Given the description of an element on the screen output the (x, y) to click on. 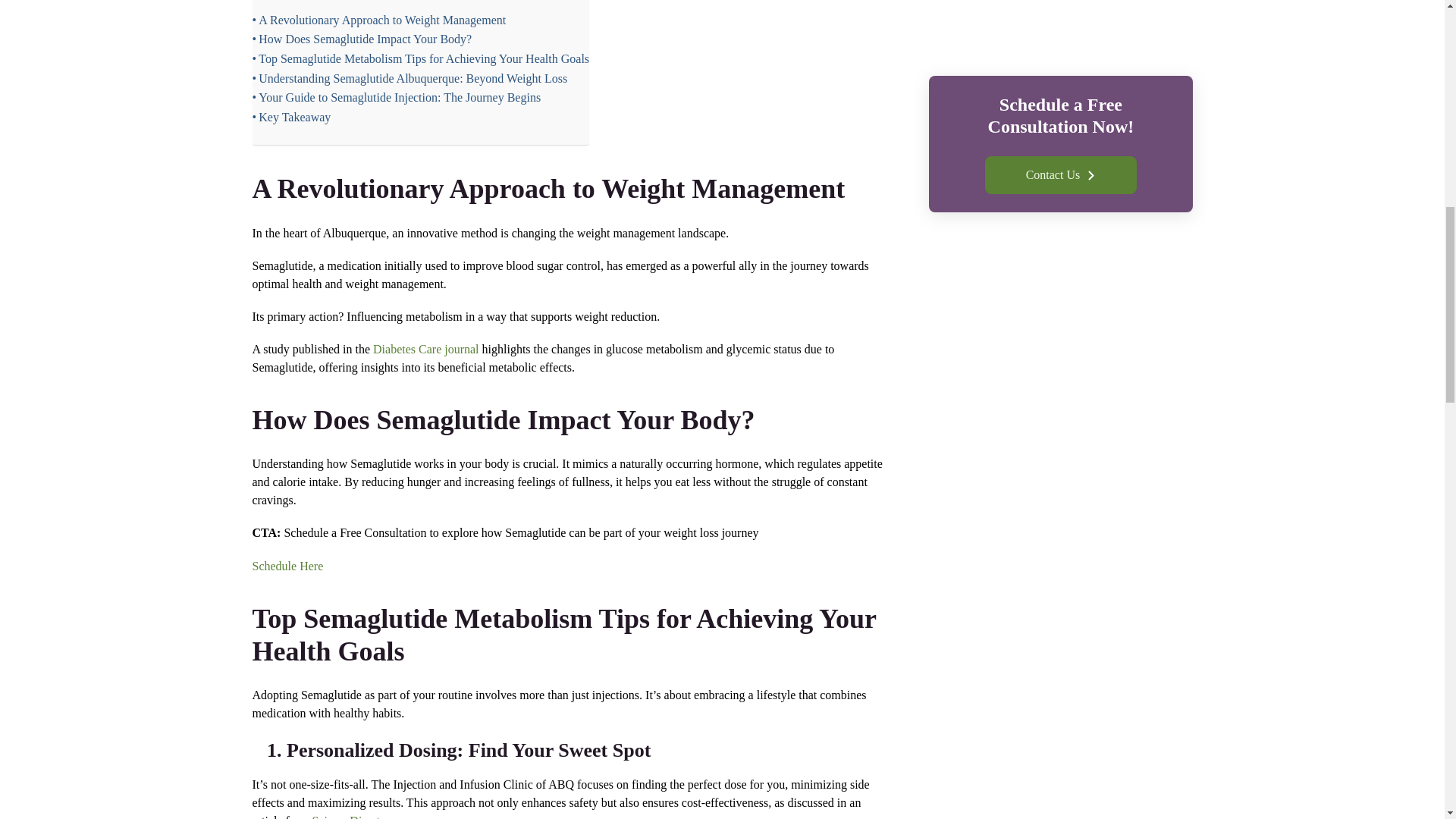
A Revolutionary Approach to Weight Management (378, 20)
Your Guide to Semaglutide Injection: The Journey Begins (395, 97)
Key Takeaway (290, 117)
A Revolutionary Approach to Weight Management (378, 20)
How Does Semaglutide Impact Your Body? (361, 39)
Understanding Semaglutide Albuquerque: Beyond Weight Loss (409, 78)
